Given the description of an element on the screen output the (x, y) to click on. 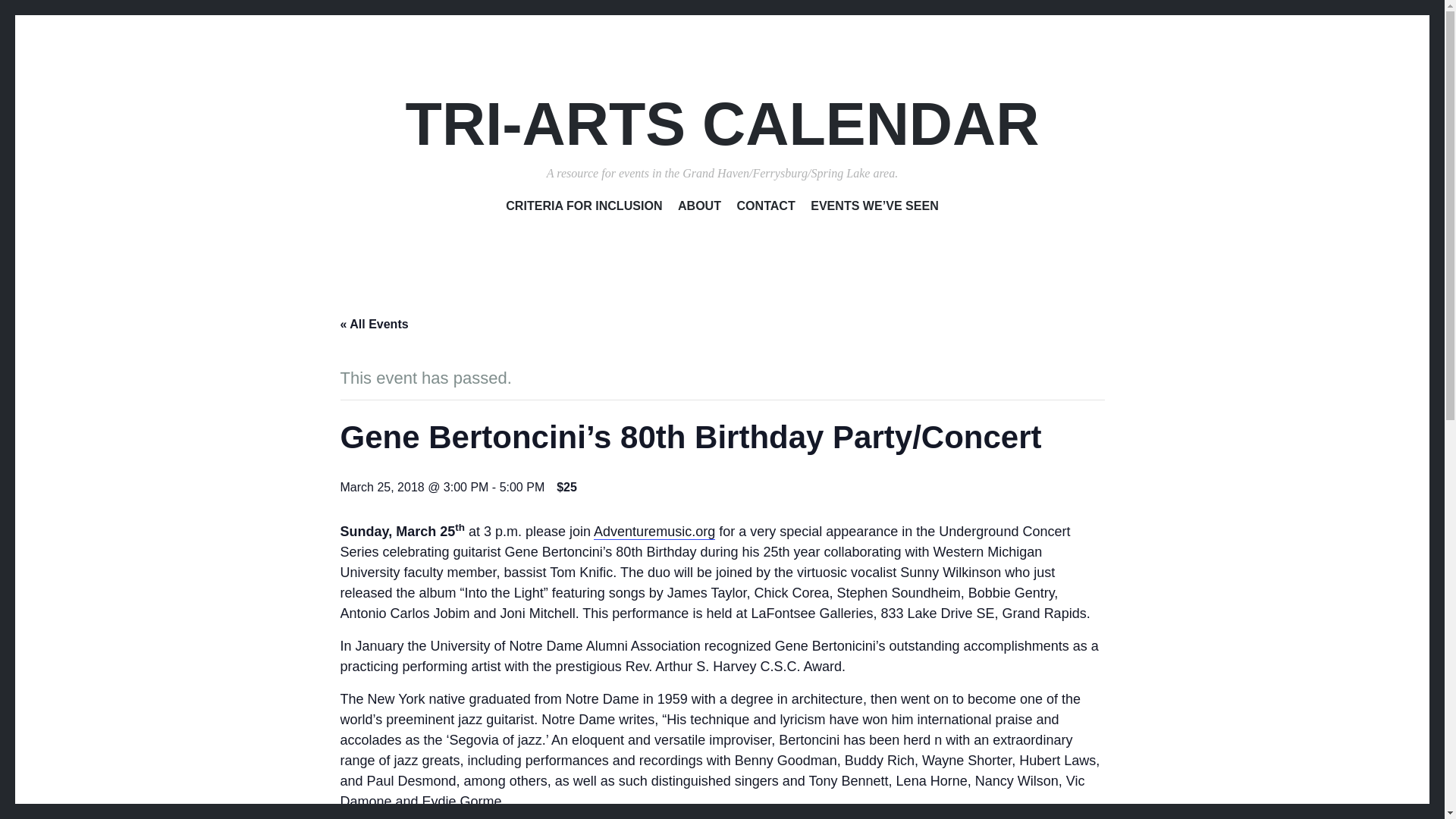
ABOUT (699, 208)
TRI-ARTS CALENDAR (722, 123)
Adventuremusic.org (654, 531)
CRITERIA FOR INCLUSION (583, 208)
CONTACT (765, 208)
